Given the description of an element on the screen output the (x, y) to click on. 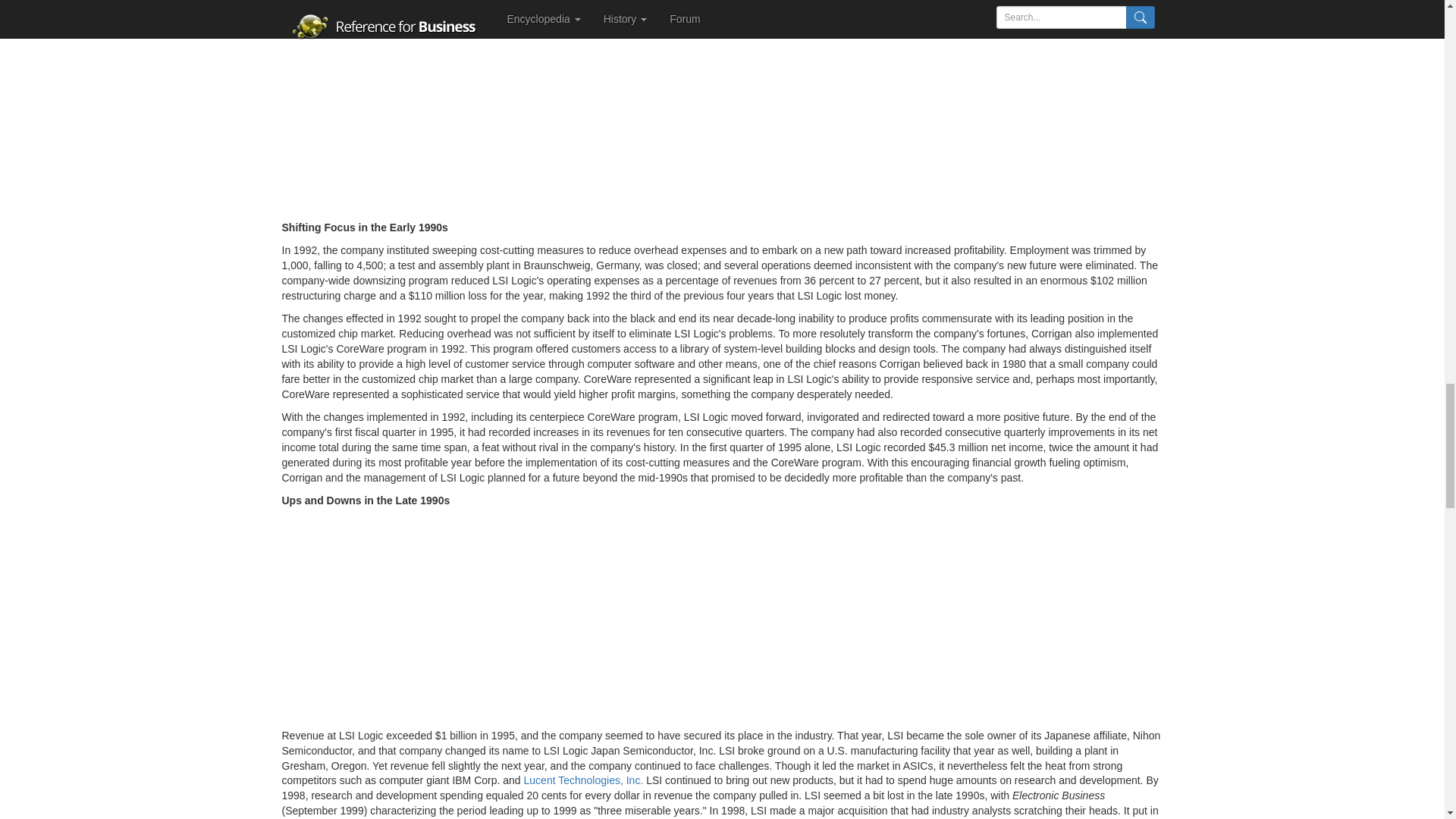
View 'lucent technologies, inc.' definition from Wikipedia (583, 779)
Lucent Technologies, Inc. (583, 779)
